Given the description of an element on the screen output the (x, y) to click on. 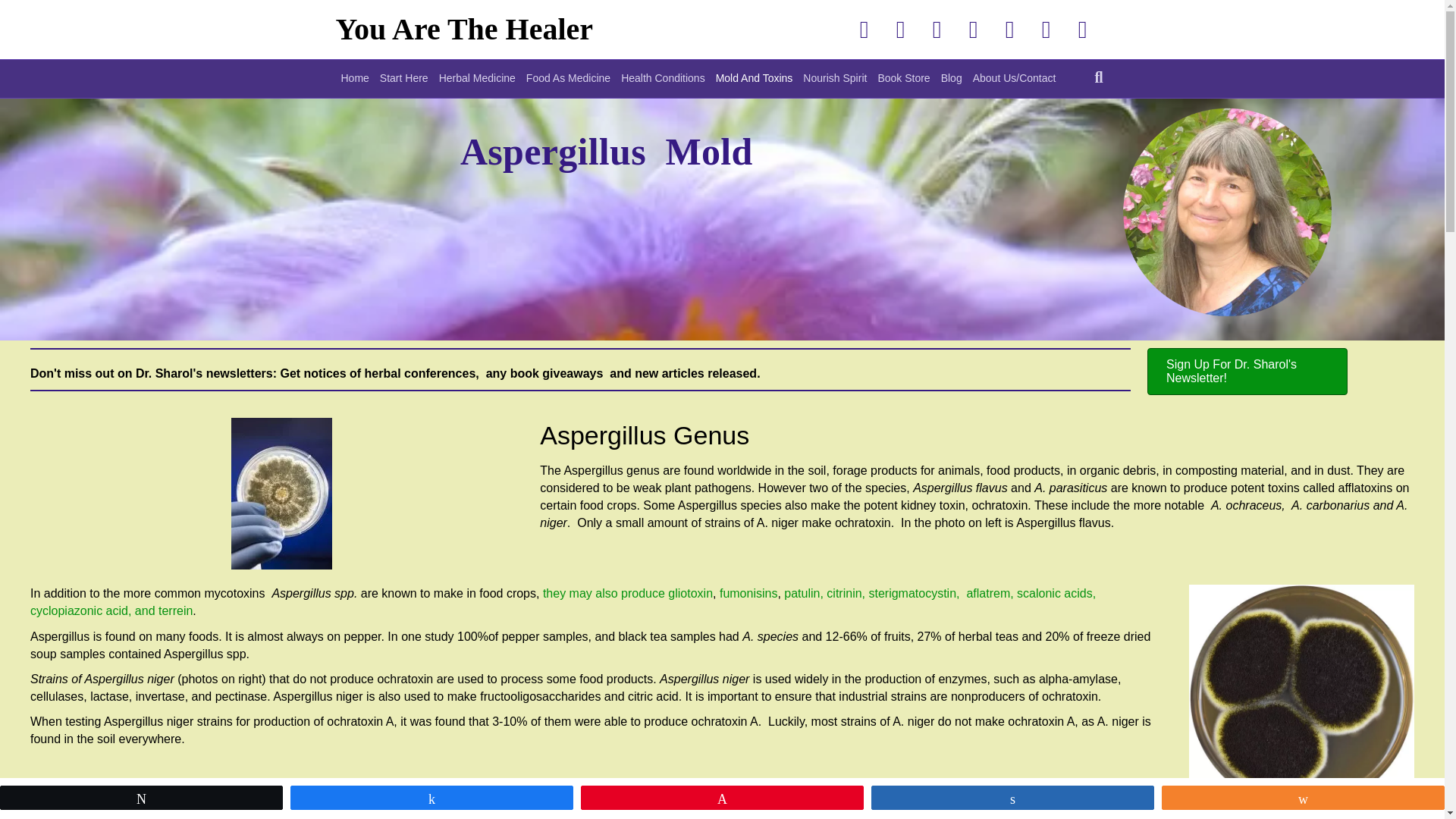
Food As Medicine (568, 78)
Instagram (1009, 29)
Facebook (863, 29)
Rss (1082, 29)
Start Here (403, 78)
Health Conditions (662, 78)
Home (354, 78)
Pinterest (936, 29)
Twitter (900, 29)
Photo of Sharol Tilgner (1246, 226)
Aspergillus-niger-growing-on-plate (1301, 696)
Blogger (1045, 29)
You Are The Healer (516, 29)
Herbal Medicine (477, 78)
Youtube (973, 29)
